Given the description of an element on the screen output the (x, y) to click on. 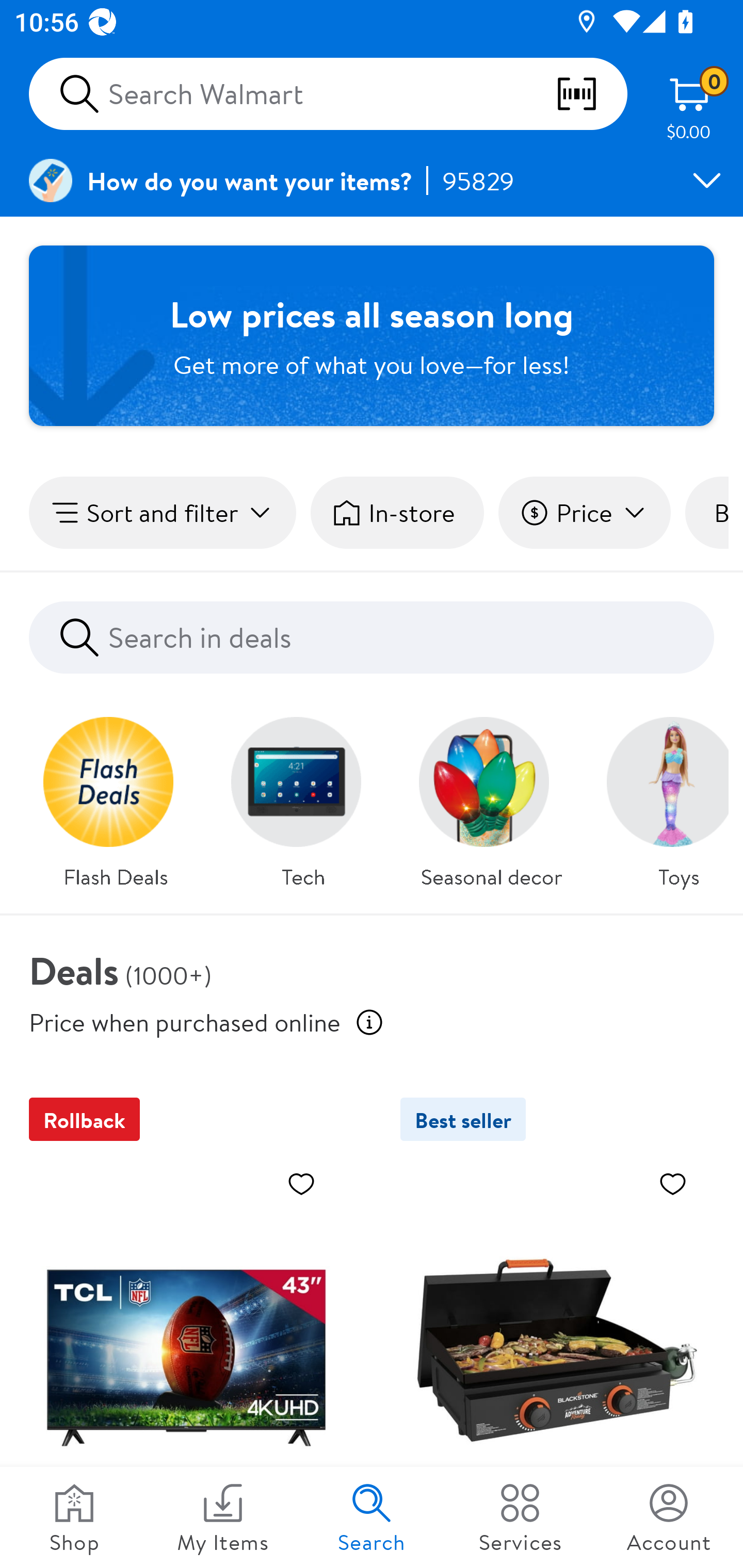
Search Walmart scan barcodes qr codes and more (327, 94)
scan barcodes qr codes and more (591, 94)
Search in deals (371, 638)
Search by Flash Deals Flash Deals (115, 797)
Search by Tech Tech (303, 797)
Search by Seasonal decor Seasonal decor (491, 797)
Search by Toys Toys (660, 797)
Price when purchased online (184, 1021)
Price when purchased online (369, 1022)
Shop (74, 1517)
My Items (222, 1517)
Services (519, 1517)
Account (668, 1517)
